Given the description of an element on the screen output the (x, y) to click on. 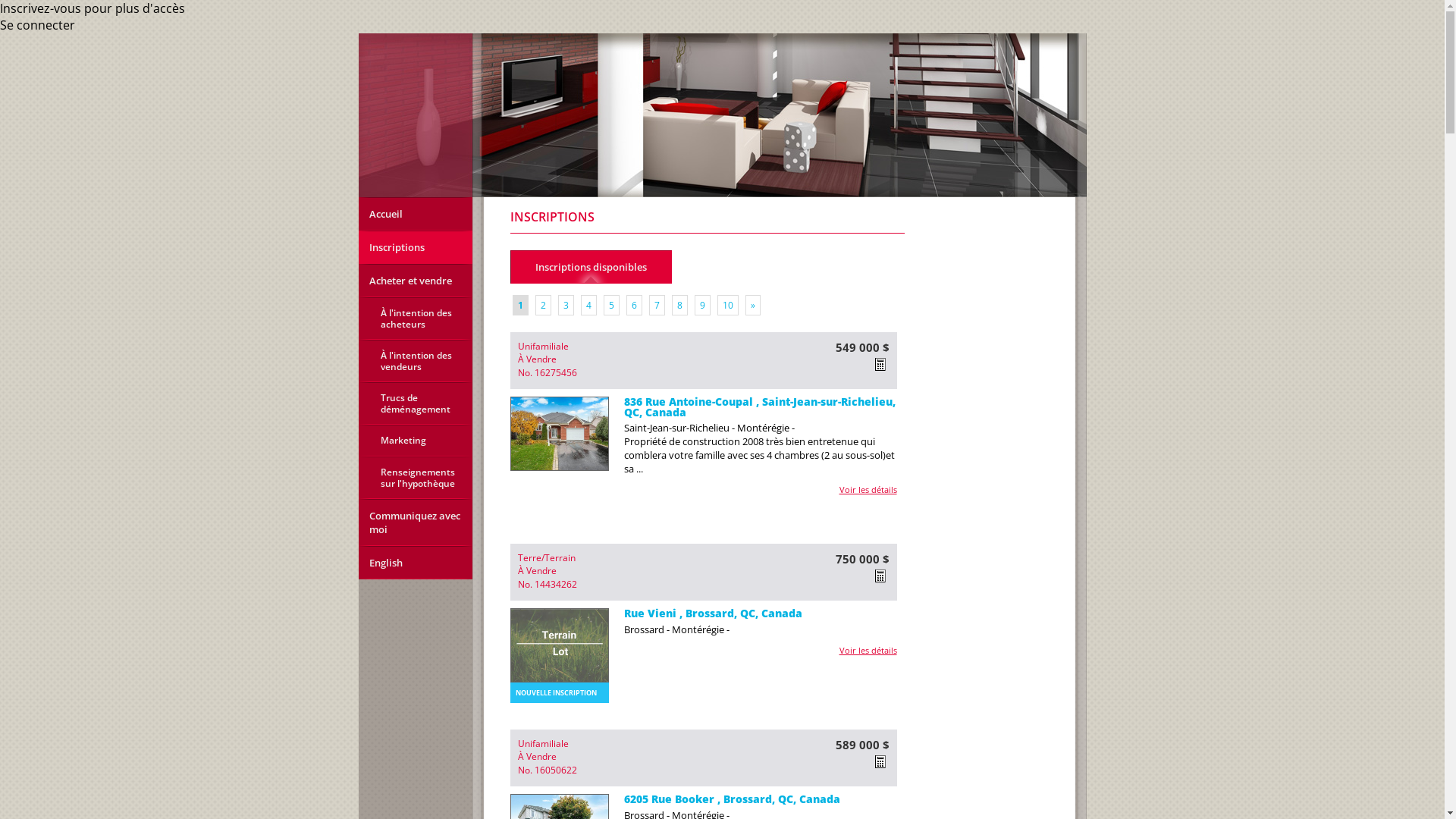
8 Element type: text (679, 304)
6 Element type: text (634, 304)
Marketing Element type: text (414, 440)
Inscriptions Element type: text (414, 246)
English Element type: text (414, 562)
3 Element type: text (566, 304)
9 Element type: text (702, 304)
7 Element type: text (657, 304)
5 Element type: text (611, 304)
Acheter et vendre Element type: text (414, 280)
2 Element type: text (543, 304)
Communiquez avec moi Element type: text (414, 522)
1 Element type: text (520, 304)
Accueil Element type: text (414, 213)
4 Element type: text (588, 304)
10 Element type: text (727, 304)
